Given the description of an element on the screen output the (x, y) to click on. 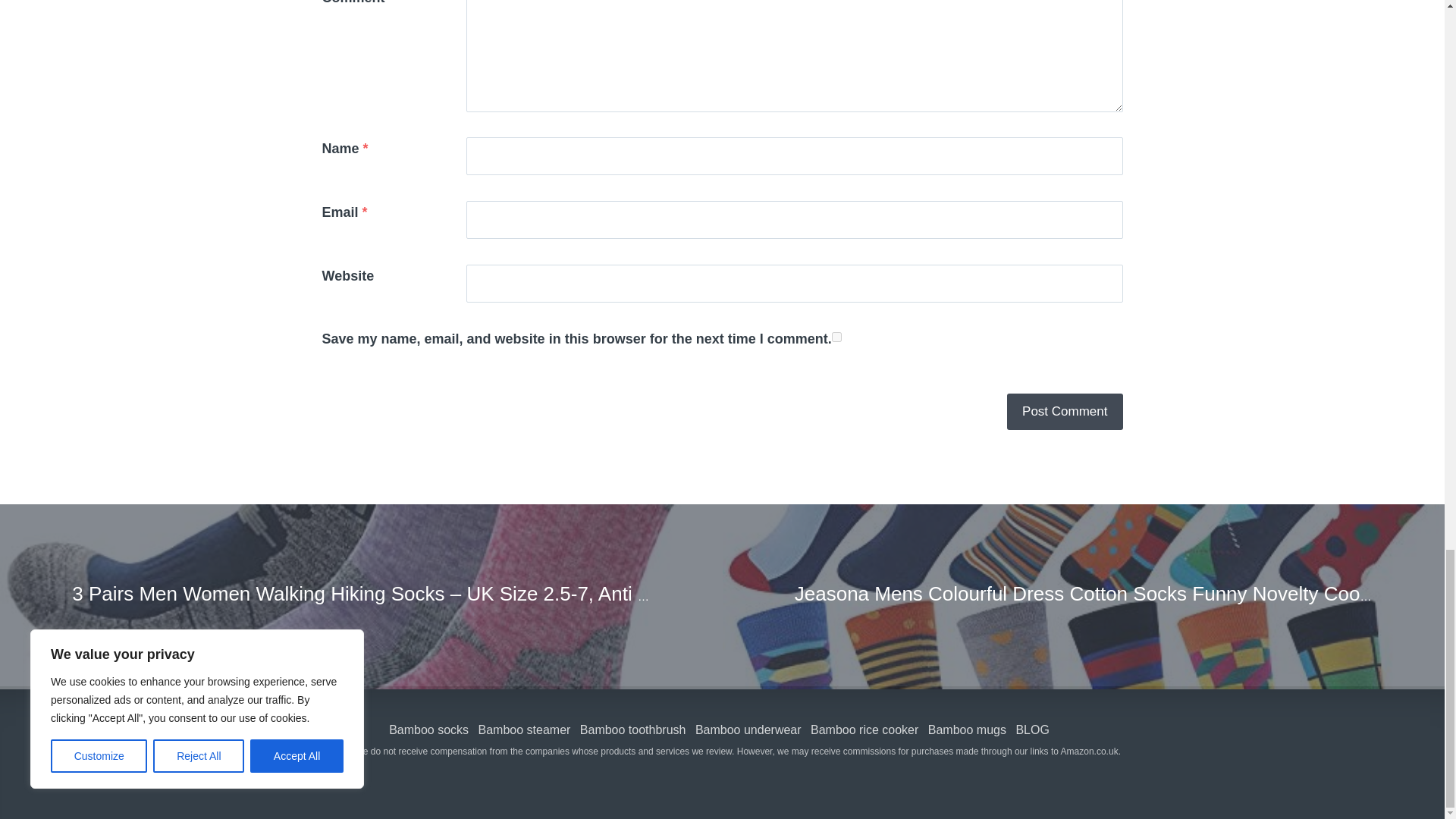
yes (836, 337)
Post Comment (1064, 411)
